Given the description of an element on the screen output the (x, y) to click on. 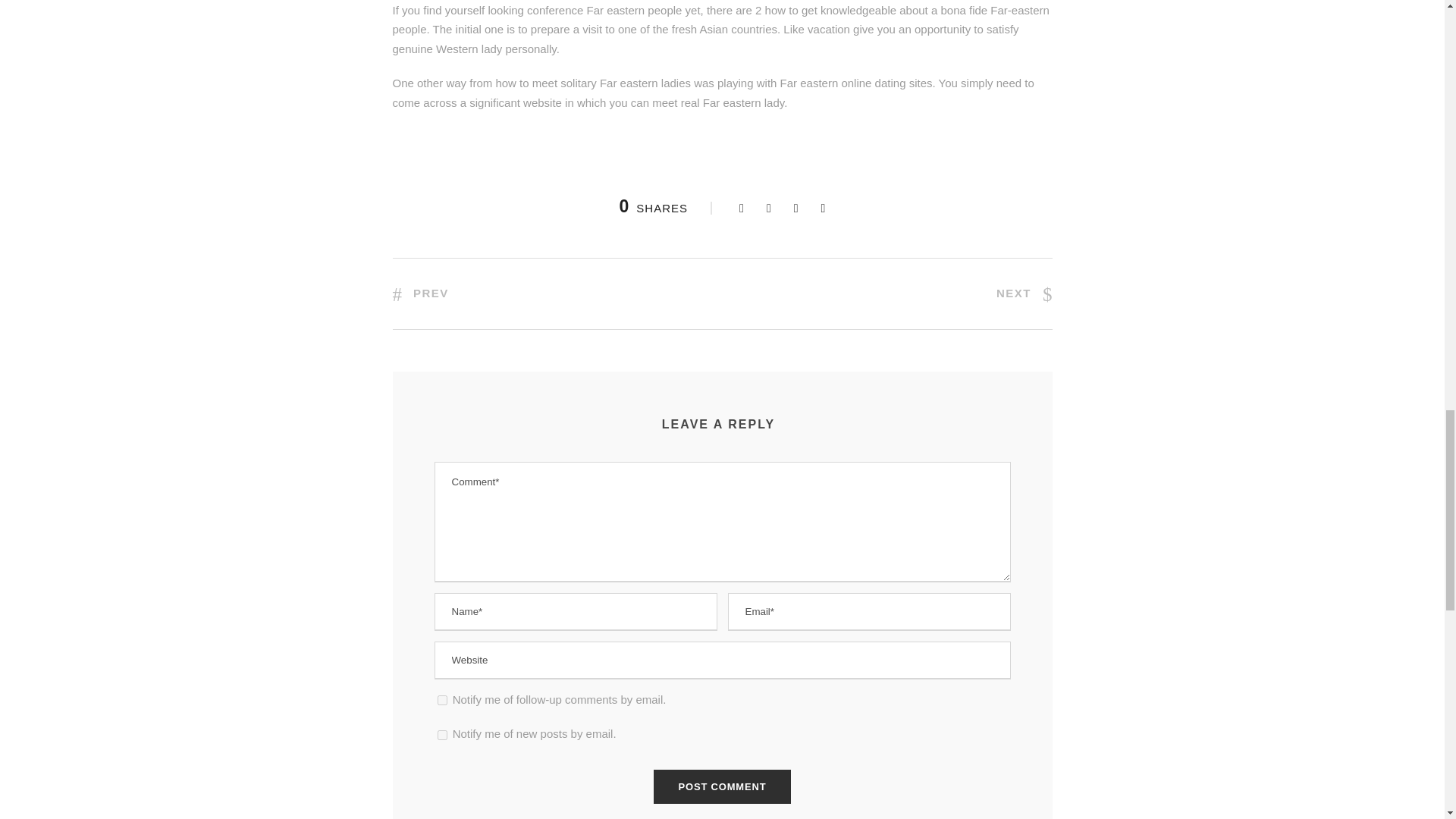
PREV (420, 292)
subscribe (441, 700)
NEXT (1023, 292)
Post Comment (722, 786)
Post Comment (722, 786)
subscribe (441, 735)
